Given the description of an element on the screen output the (x, y) to click on. 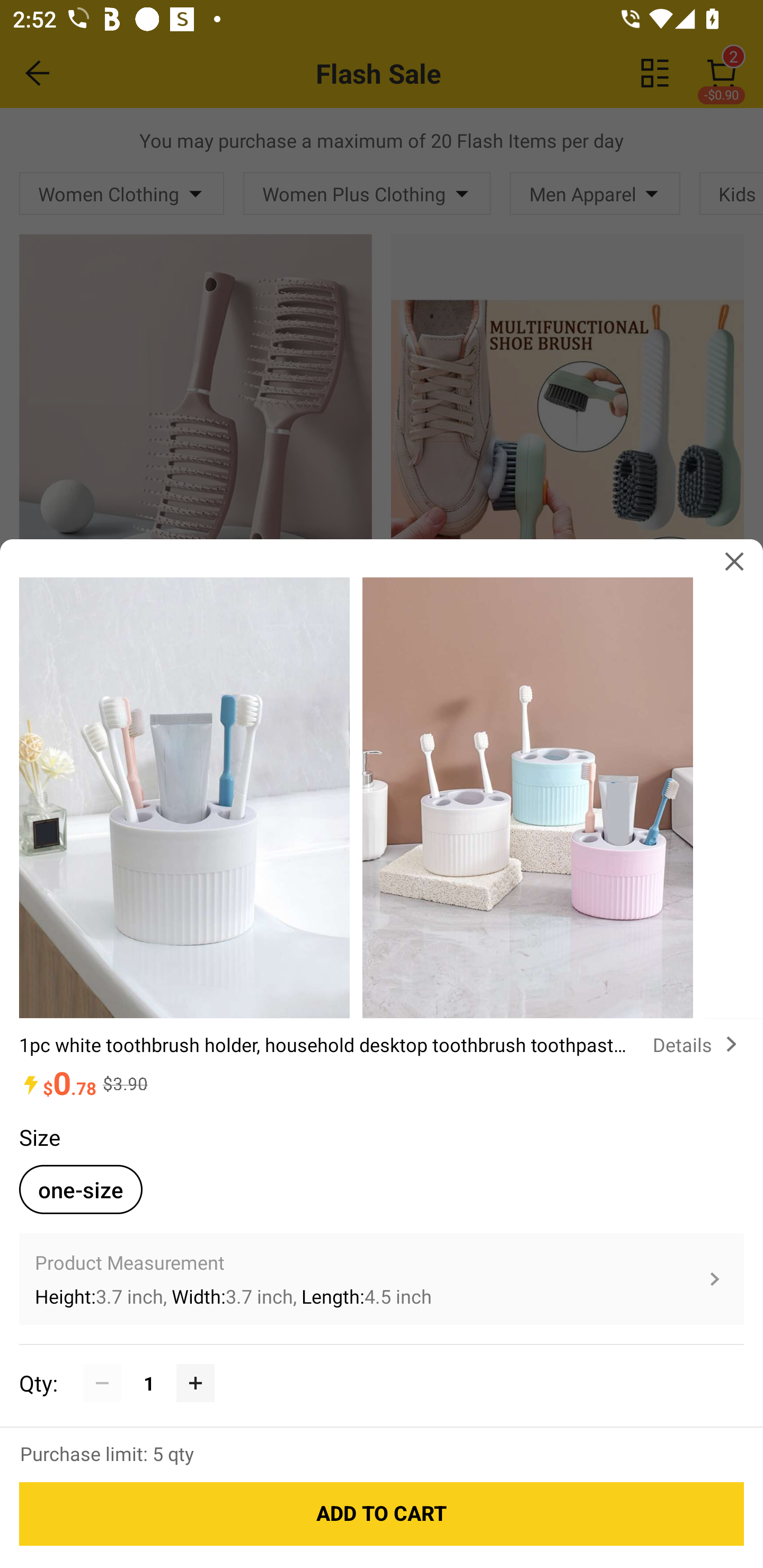
Details (698, 1043)
Size (39, 1137)
one-size one-sizeselected option (80, 1189)
ADD TO CART (381, 1513)
